Given the description of an element on the screen output the (x, y) to click on. 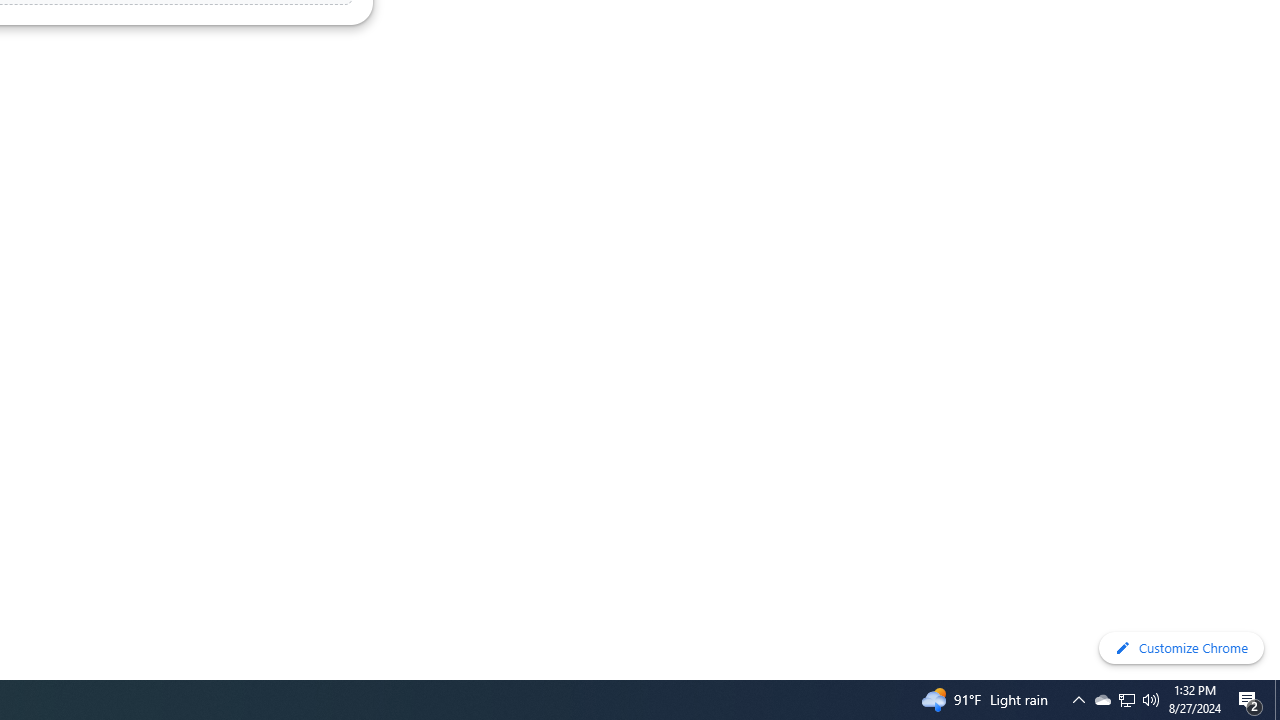
Customize Chrome (1181, 647)
